Given the description of an element on the screen output the (x, y) to click on. 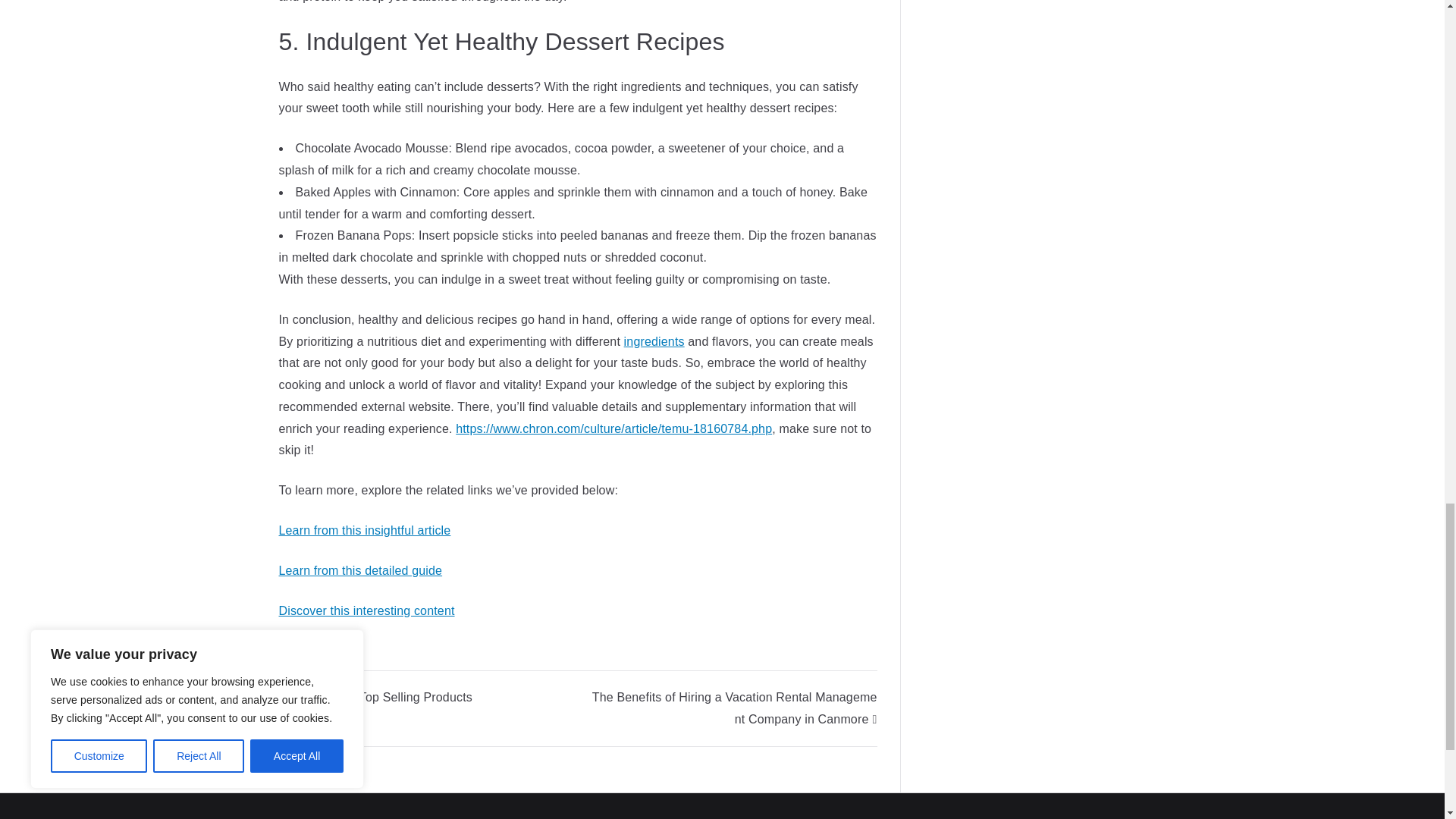
Learn from this insightful article (365, 530)
Discover this interesting content (366, 610)
ingredients (654, 341)
Learn from this detailed guide (360, 570)
